Given the description of an element on the screen output the (x, y) to click on. 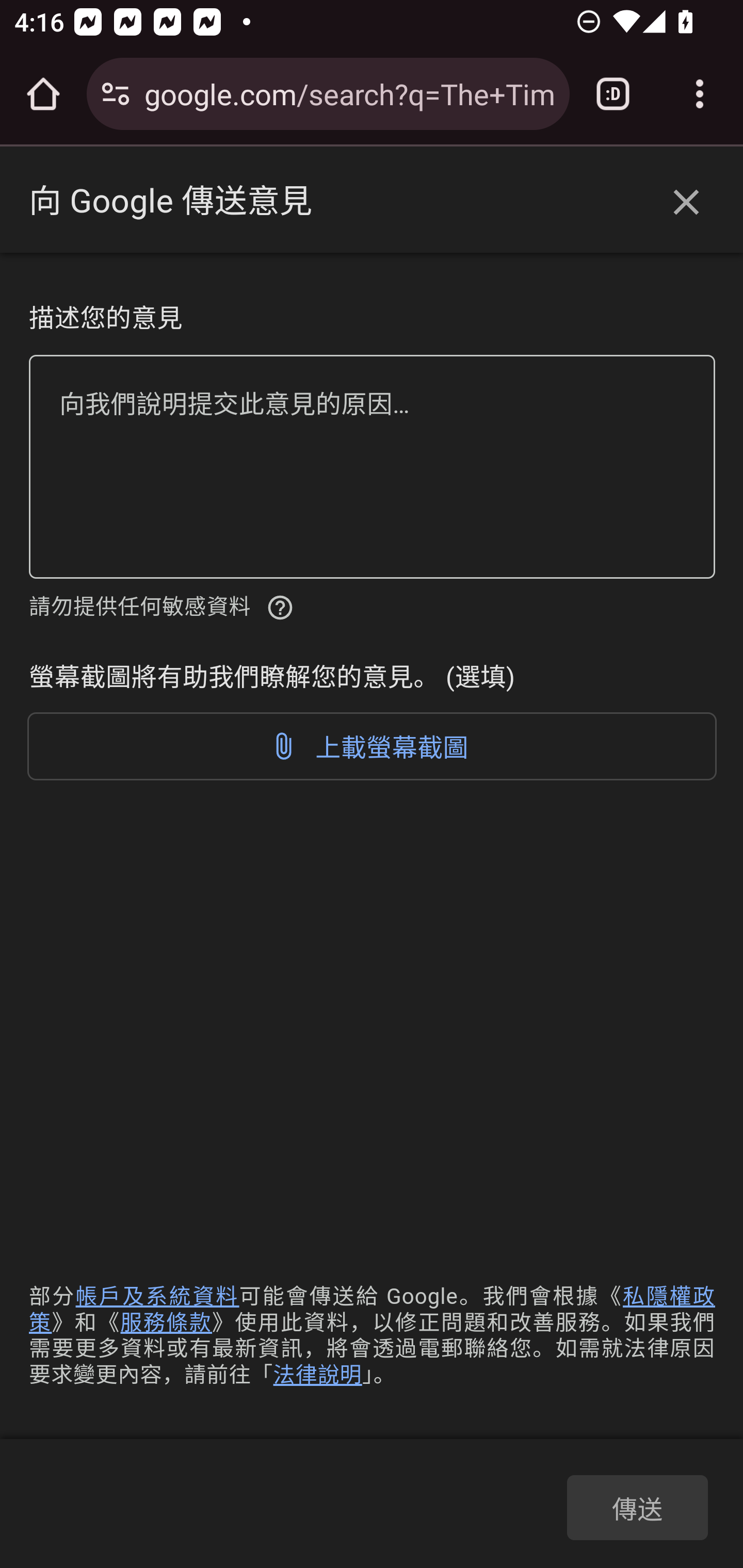
Open the home page (43, 93)
Connection is secure (115, 93)
Switch or close tabs (612, 93)
Customize and control Google Chrome (699, 93)
關閉 (686, 202)
上載螢幕截圖 (372, 746)
喺新分頁度打開。私隱權政策 私隱權政策 (372, 1308)
帳戶及系統資料 (156, 1296)
喺新分頁度打開。服務條款 服務條款 (165, 1322)
喺新分頁度打開。法律說明 法律說明 (317, 1374)
傳送掣，停用咗。除了標示為選填的問題之外，所有問題均需回答 (636, 1507)
